Given the description of an element on the screen output the (x, y) to click on. 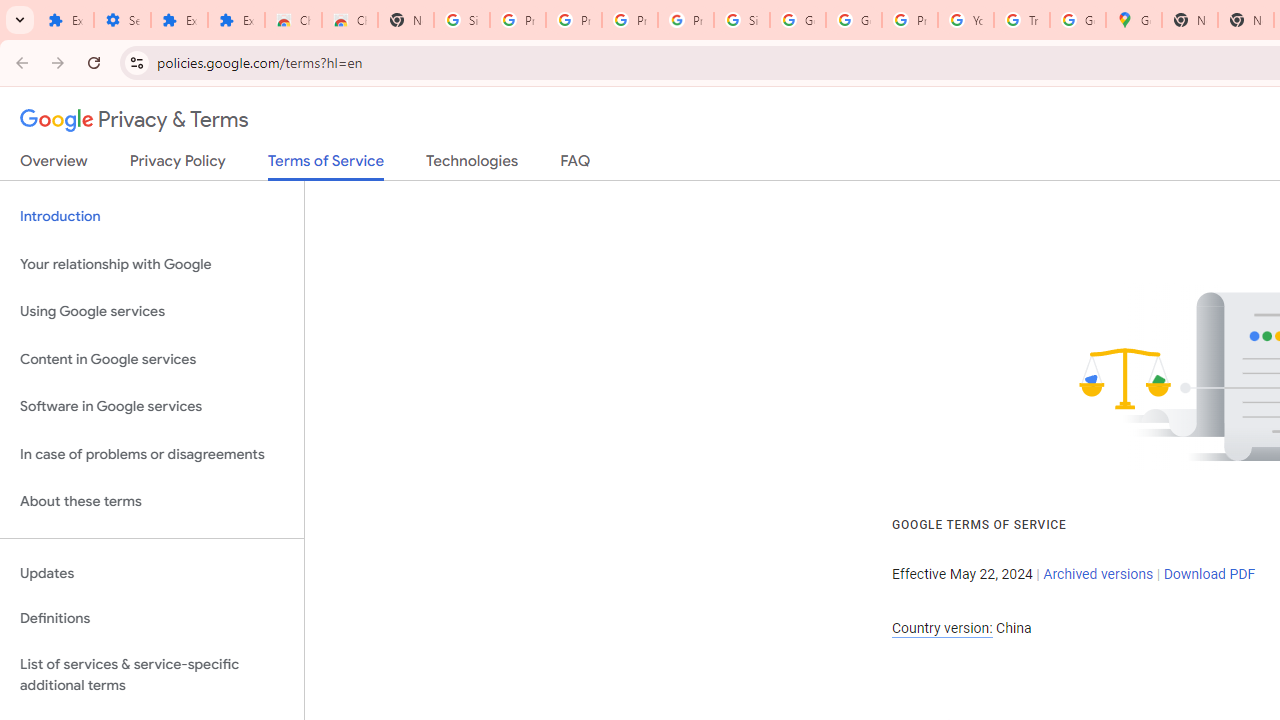
YouTube (966, 20)
Extensions (65, 20)
In case of problems or disagreements (152, 453)
Chrome Web Store - Themes (349, 20)
Your relationship with Google (152, 263)
Extensions (235, 20)
Settings (122, 20)
Introduction (152, 216)
List of services & service-specific additional terms (152, 674)
Software in Google services (152, 407)
